Given the description of an element on the screen output the (x, y) to click on. 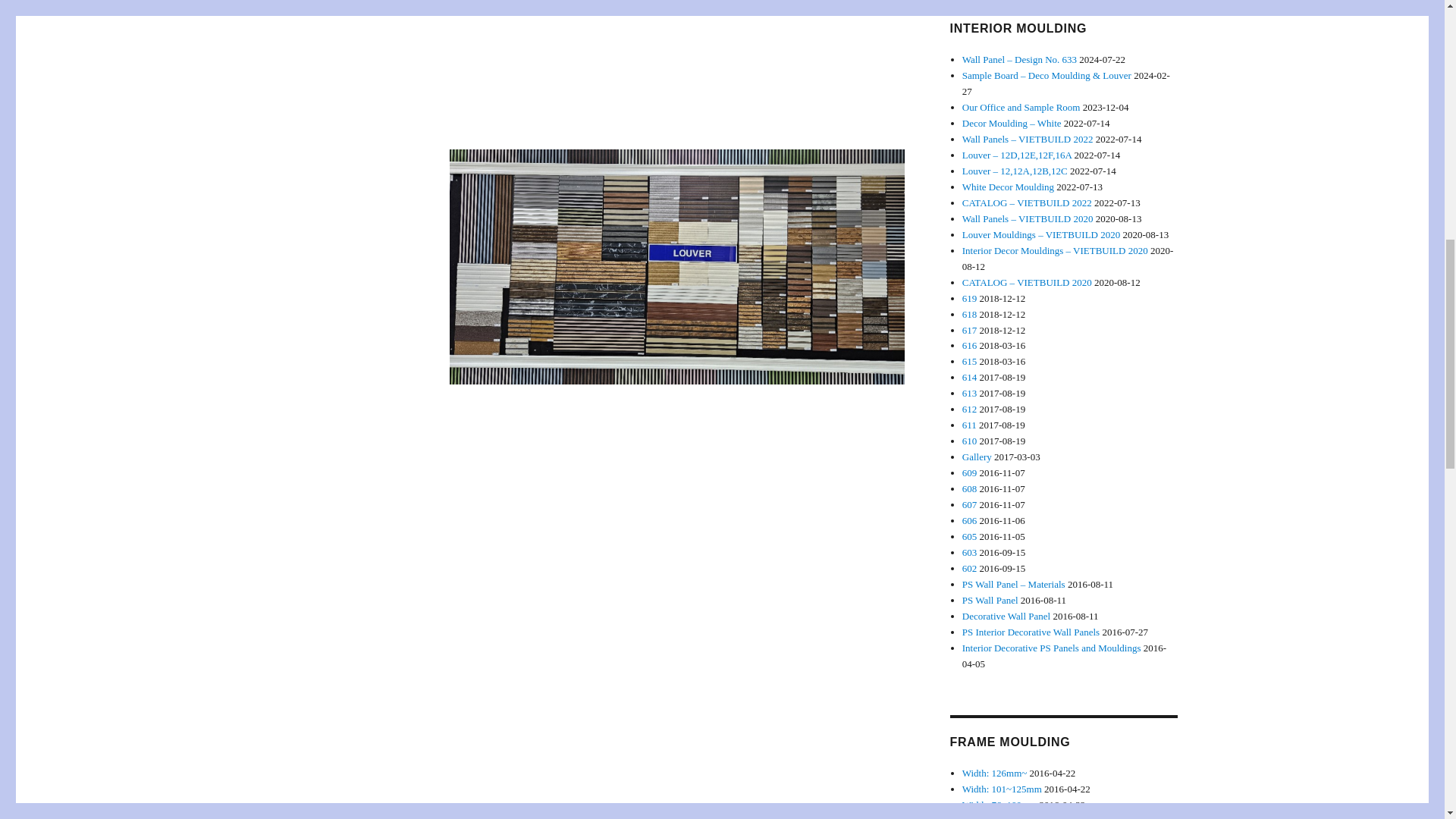
616 (969, 345)
617 (969, 329)
White Decor Moulding (1008, 186)
619 (969, 297)
White Decor Moulding (1008, 186)
618 (969, 314)
Our Office and Sample Room (1021, 107)
Our Office and Sample Room (1021, 107)
618 (969, 314)
619 (969, 297)
